Given the description of an element on the screen output the (x, y) to click on. 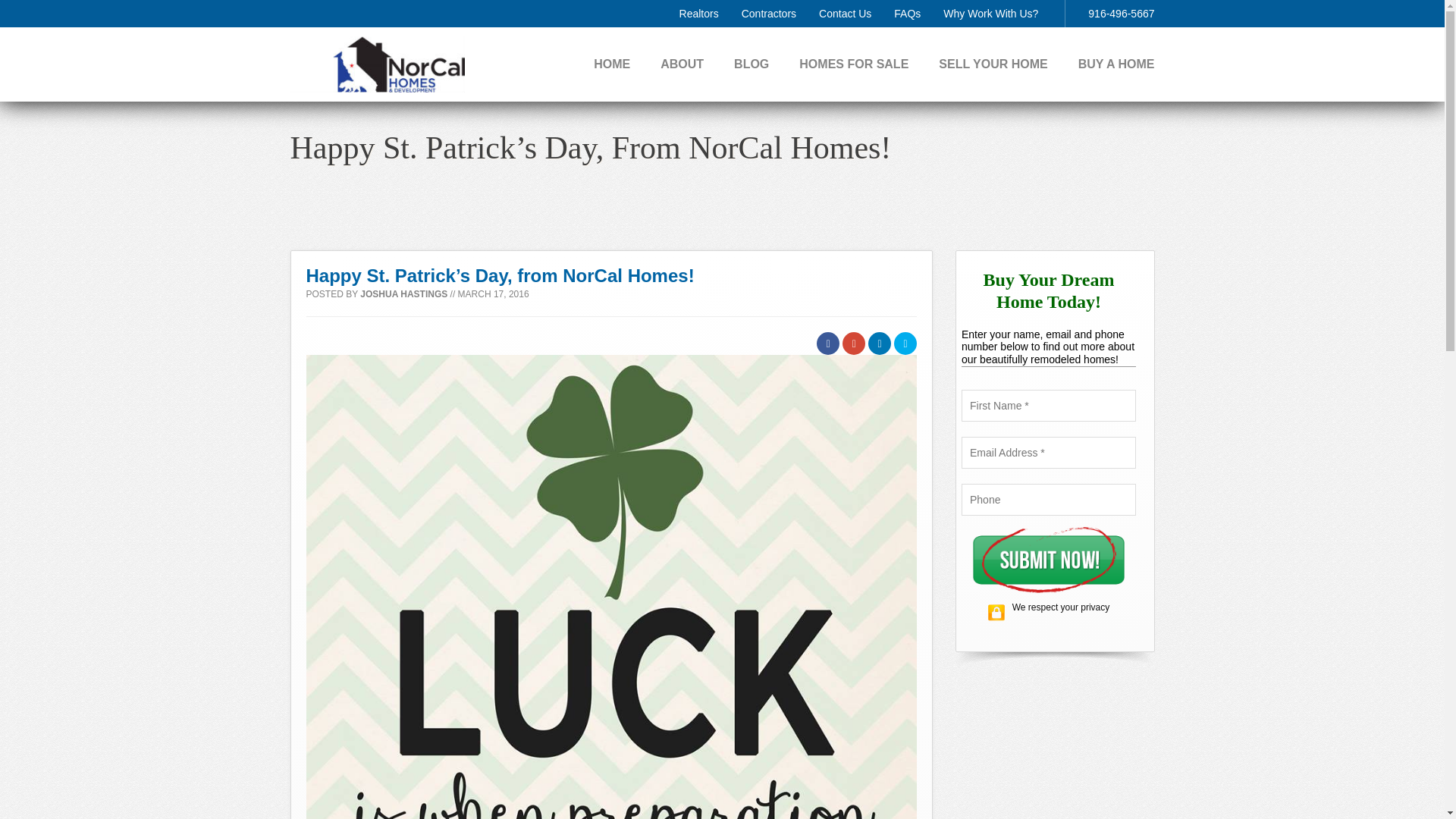
916-496-5667 (1120, 13)
BLOG (750, 63)
Contact Us (844, 13)
HOME (612, 63)
Contractors (768, 13)
BUY A HOME (1116, 63)
Realtors (699, 13)
SELL YOUR HOME (992, 63)
FAQs (906, 13)
HOMES FOR SALE (853, 63)
